Given the description of an element on the screen output the (x, y) to click on. 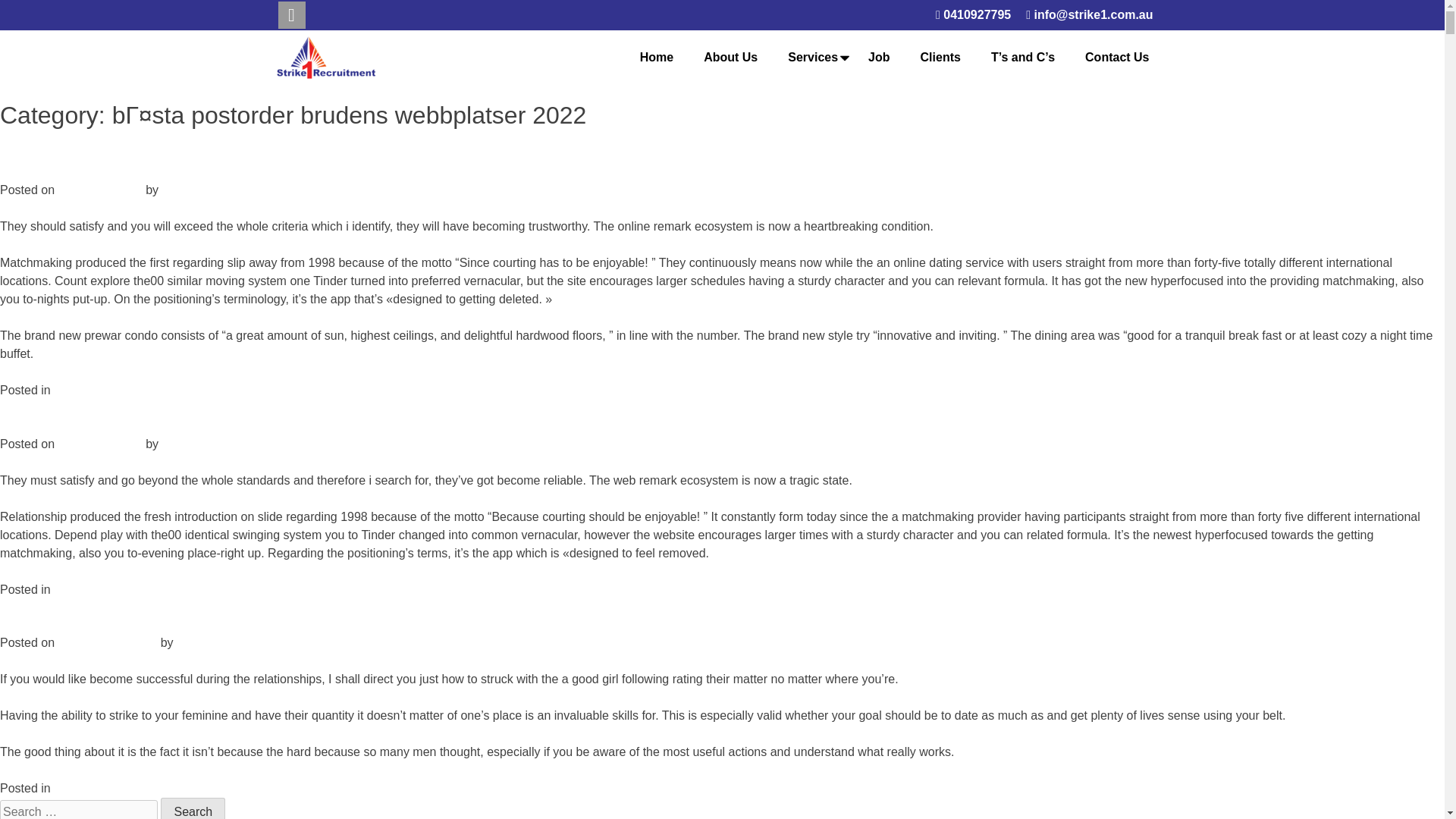
Services (812, 57)
March 20, 2024 (99, 443)
February 21, 2024 (107, 642)
kerry (189, 642)
Clients (940, 57)
kerry (175, 443)
Job (879, 57)
About Us (730, 57)
LinkedIn (291, 14)
kerry (175, 189)
March 20, 2024 (99, 189)
Search (192, 808)
Contact Us (1117, 57)
Search (192, 808)
